Given the description of an element on the screen output the (x, y) to click on. 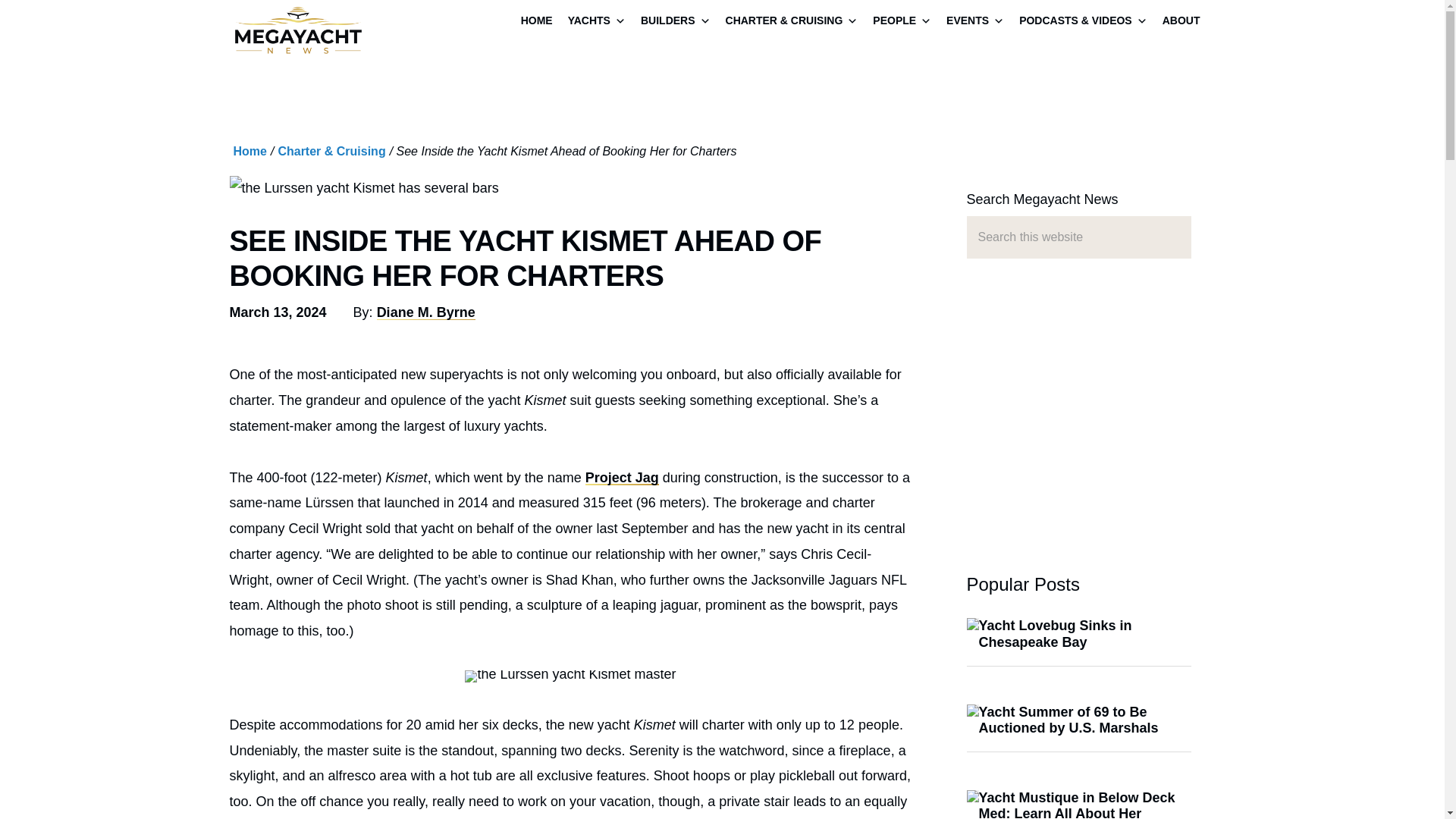
HOME (536, 22)
YACHTS (596, 22)
